Given the description of an element on the screen output the (x, y) to click on. 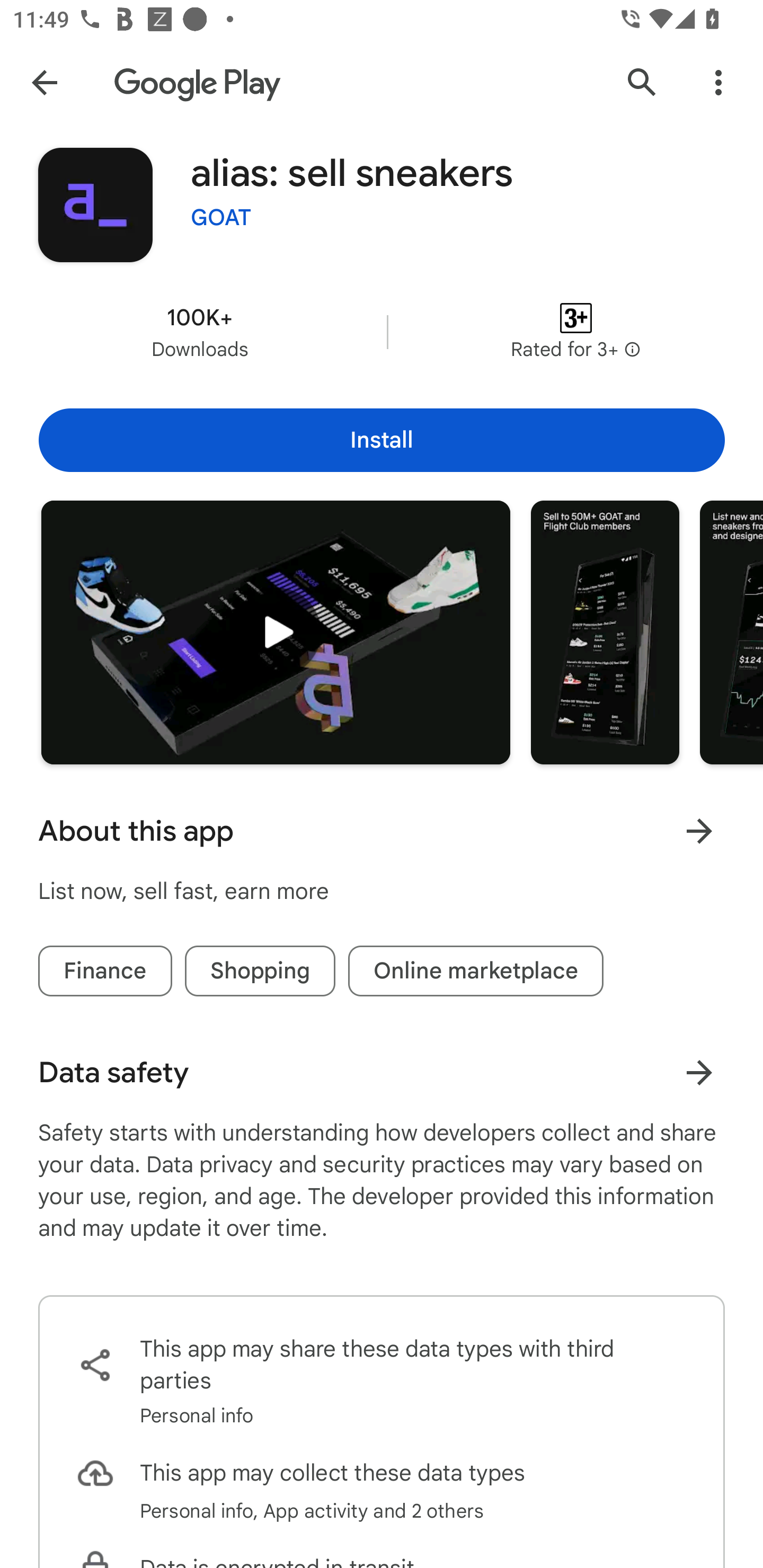
Navigate up (44, 81)
Search Google Play (642, 81)
More Options (718, 81)
GOAT (221, 217)
Content rating Rated for 3+ (575, 331)
Install (381, 439)
Play trailer for "alias: sell sneakers" (275, 632)
Screenshot "1" of "4" (605, 632)
About this app Learn more About this app (381, 830)
Learn more About this app (699, 830)
Finance tag (105, 970)
Shopping tag (259, 970)
Online marketplace tag (475, 970)
Data safety Learn more about data safety (381, 1072)
Learn more about data safety (699, 1072)
